Given the description of an element on the screen output the (x, y) to click on. 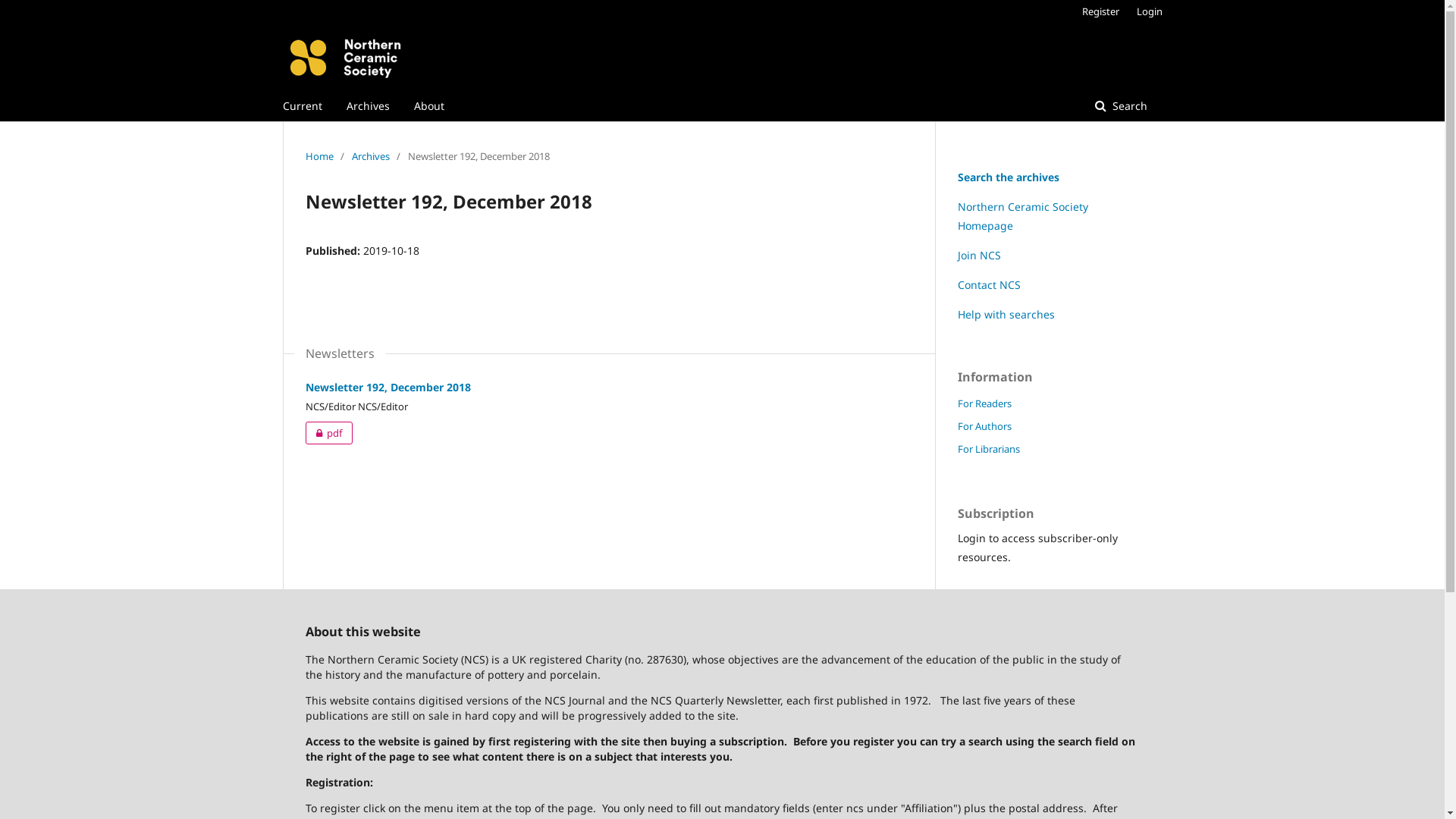
Join NCS Element type: text (978, 254)
Archives Element type: text (367, 106)
Login Element type: text (1144, 11)
Contact NCS Element type: text (988, 284)
Newsletter 192, December 2018 Element type: text (387, 386)
Search Element type: text (1120, 106)
Register Element type: text (1099, 11)
Search the archives Element type: text (1007, 176)
pdf Element type: text (327, 432)
Northern Ceramic Society Homepage Element type: text (1022, 215)
Archives Element type: text (370, 155)
About Element type: text (429, 106)
For Librarians Element type: text (988, 448)
Current Element type: text (301, 106)
Home Element type: text (318, 155)
Help with searches Element type: text (1005, 314)
For Authors Element type: text (983, 426)
For Readers Element type: text (983, 403)
